Given the description of an element on the screen output the (x, y) to click on. 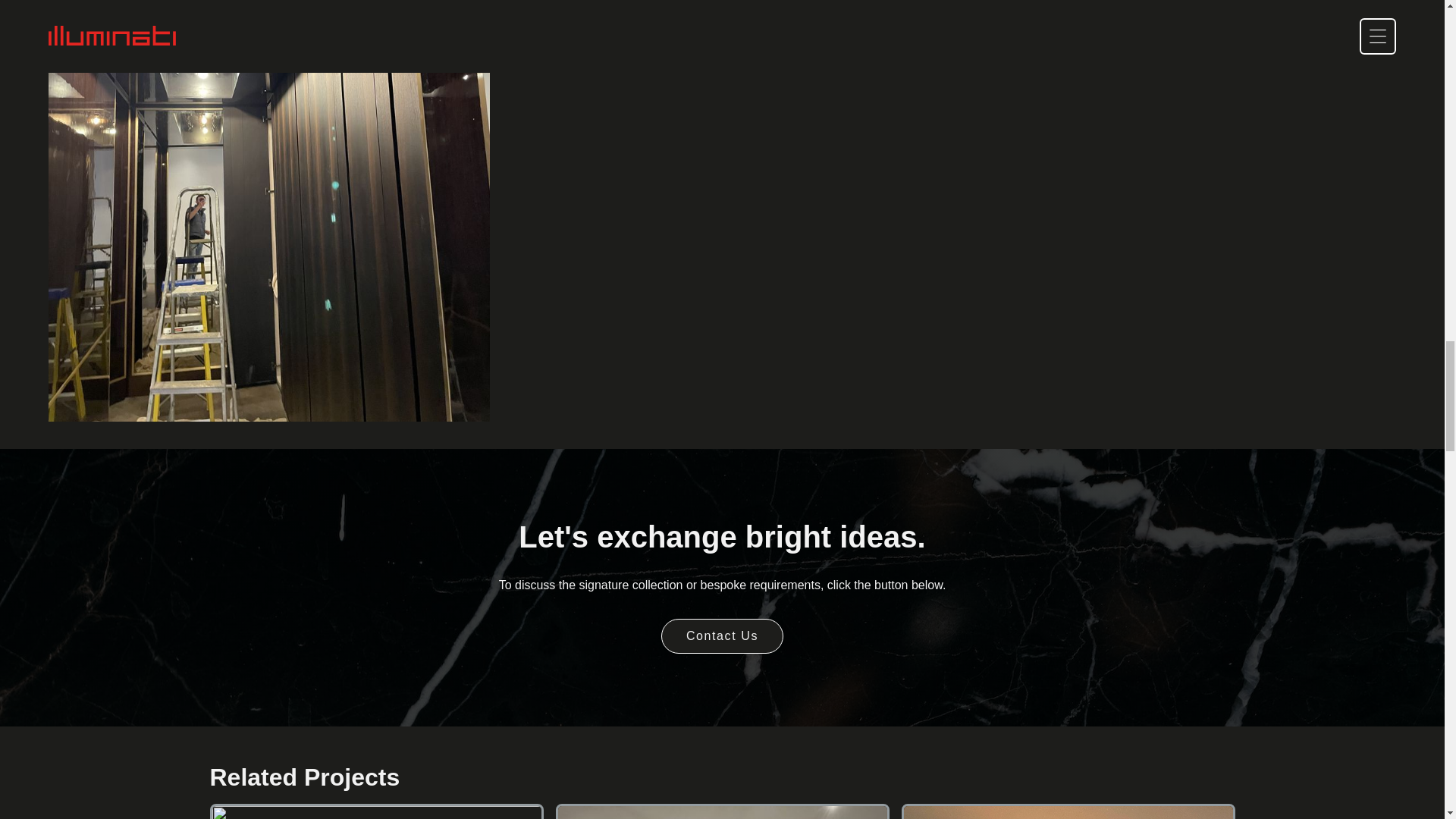
Contact Us (376, 811)
